Given the description of an element on the screen output the (x, y) to click on. 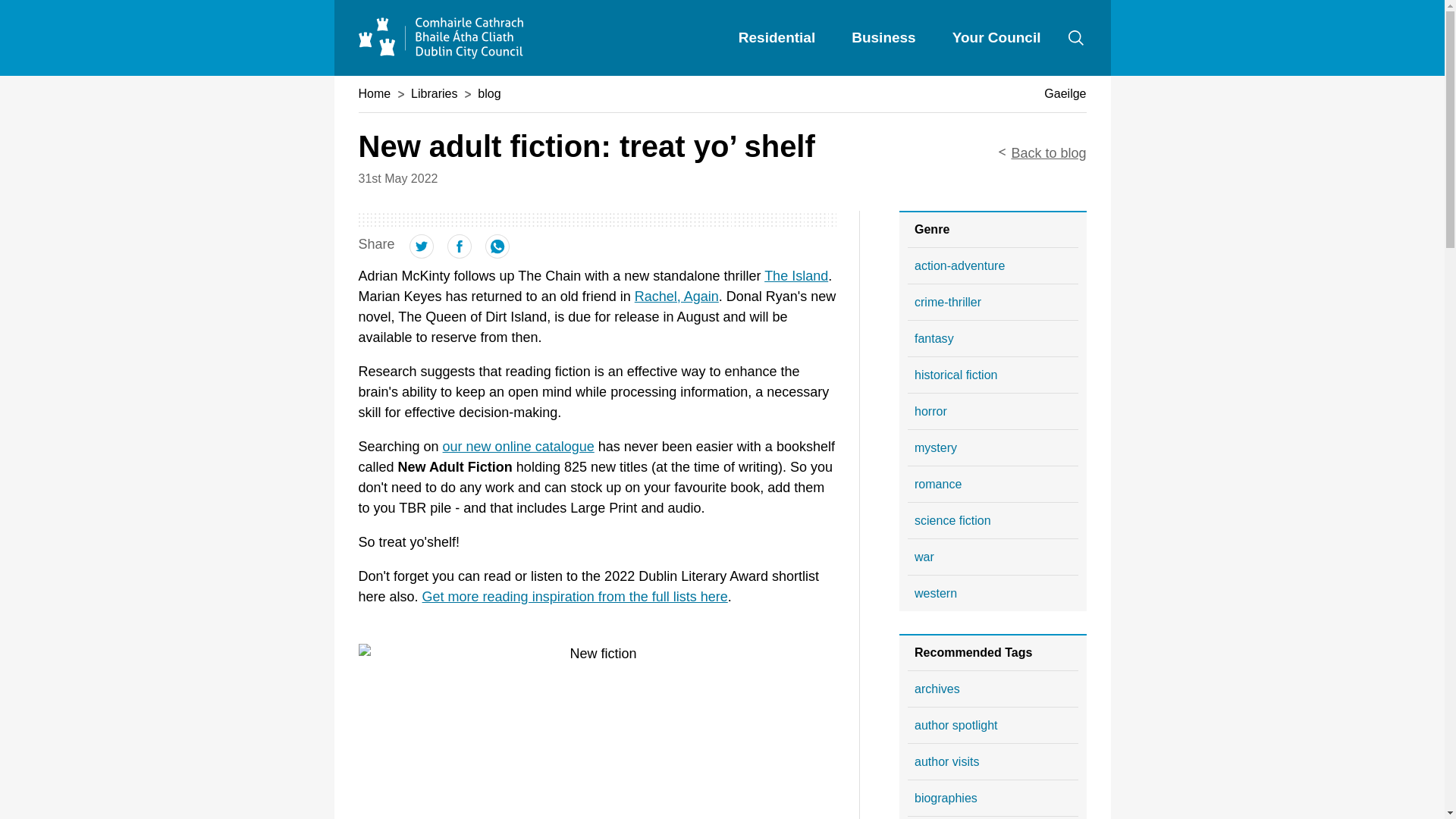
Back to blog (1048, 152)
The Island (796, 275)
Residential (776, 36)
Rachel, Again (676, 296)
Gaeilge (1064, 92)
blog (488, 92)
action-adventure (992, 265)
our new online catalogue (518, 446)
Share via Twitter (421, 253)
Home (374, 92)
Get more reading inspiration from the full lists here (575, 596)
Home (440, 27)
Menu (1074, 37)
Libraries (433, 92)
